Given the description of an element on the screen output the (x, y) to click on. 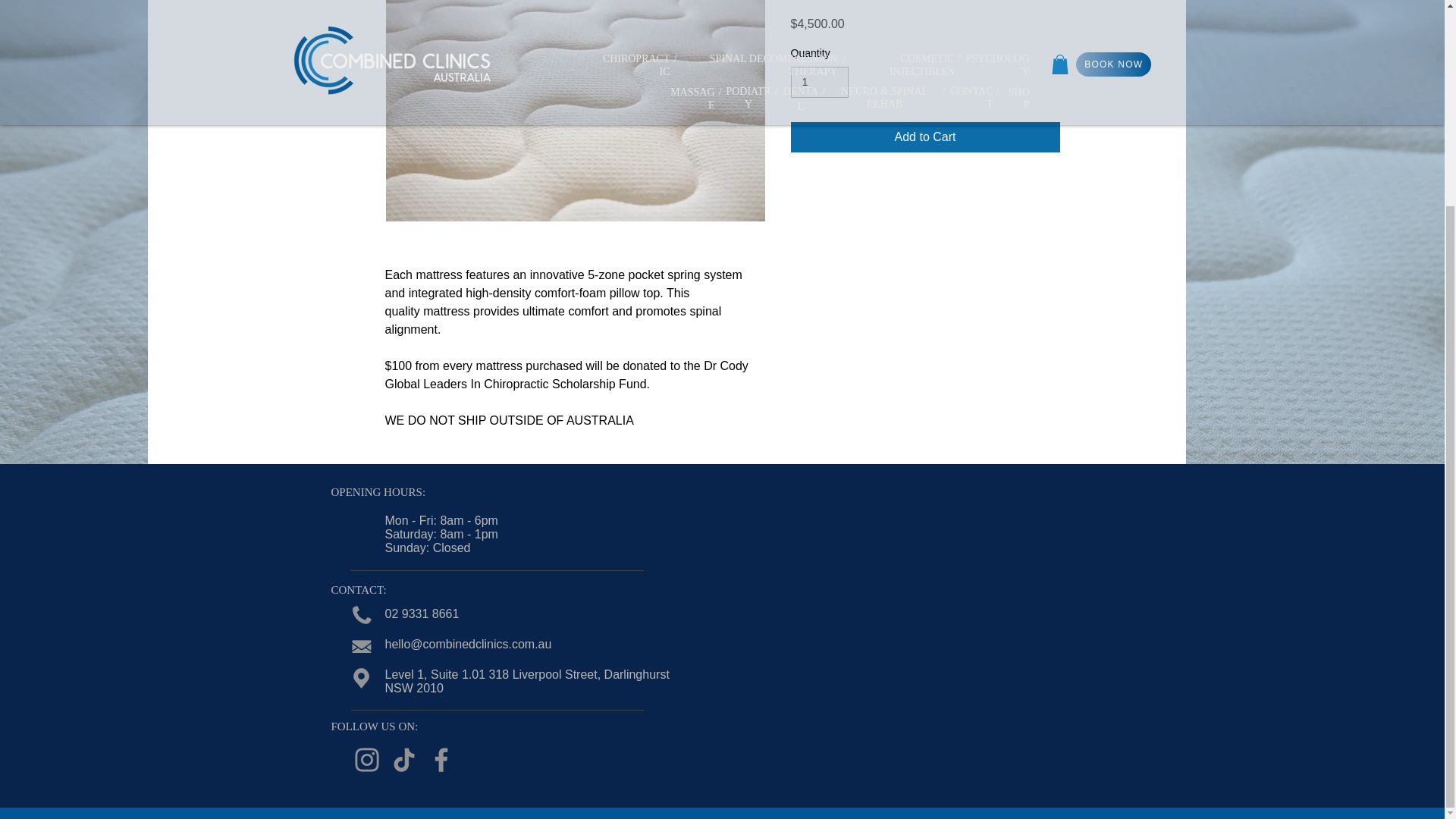
1 (818, 81)
02 9331 8661 (422, 613)
Add to Cart (924, 137)
